Given the description of an element on the screen output the (x, y) to click on. 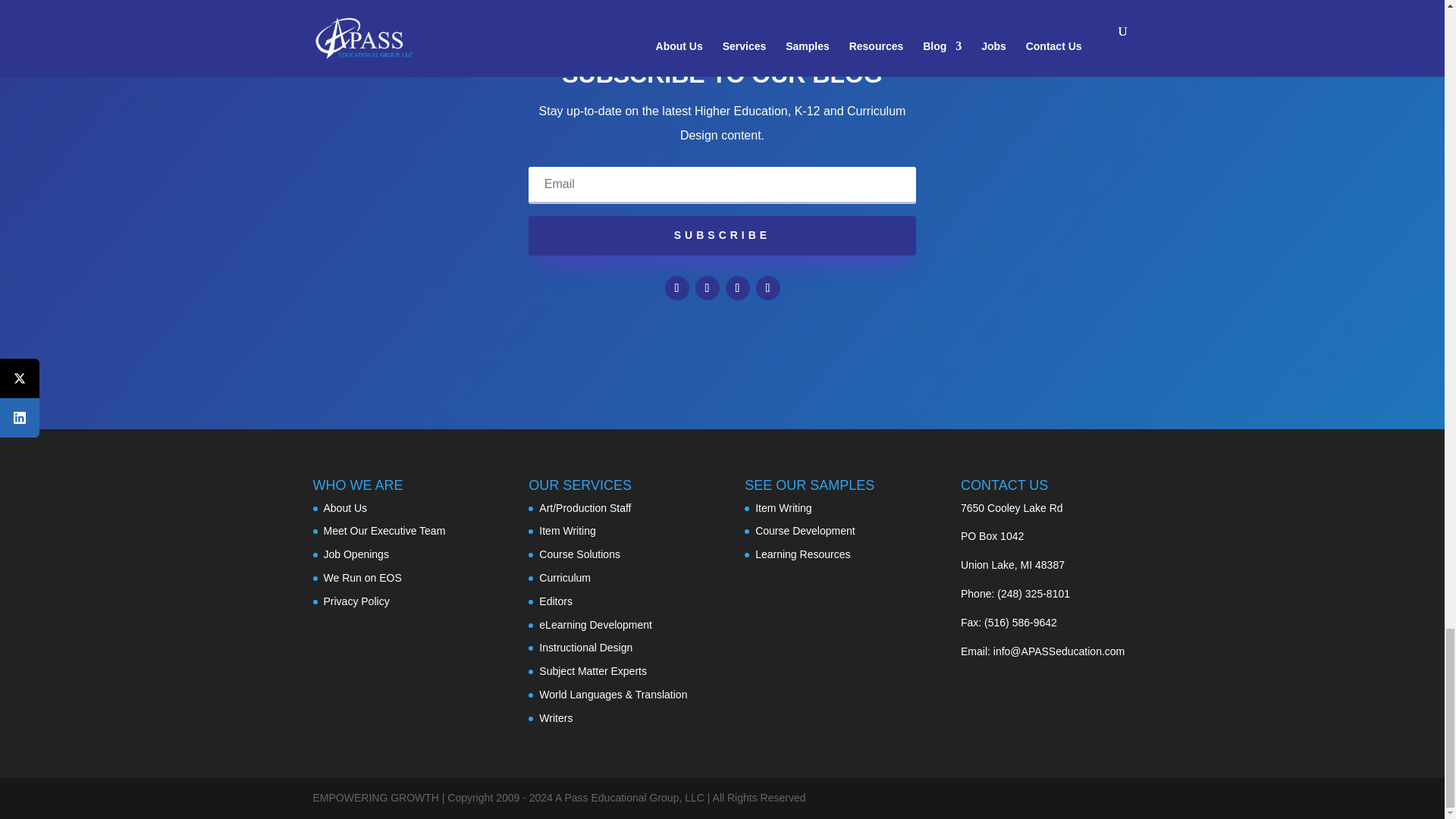
We Run on EOS (362, 577)
Follow on Twitter (706, 288)
Job Openings (355, 553)
SUBSCRIBE (721, 235)
Follow on LinkedIn (737, 288)
Follow on Instagram (766, 288)
About Us (344, 508)
Follow on Facebook (675, 288)
Meet Our Executive Team (384, 530)
